Given the description of an element on the screen output the (x, y) to click on. 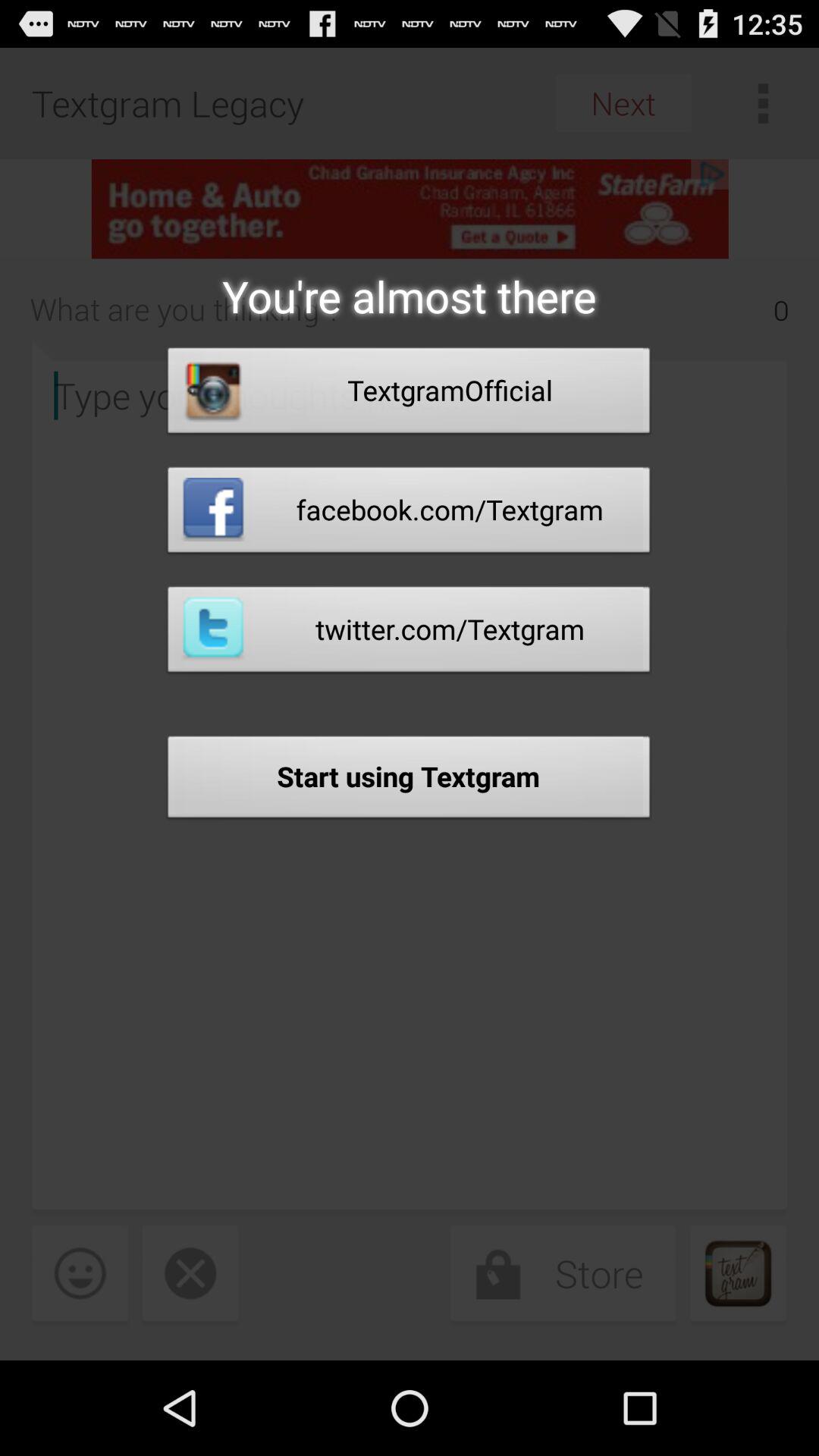
jump to the start using textgram item (409, 781)
